Given the description of an element on the screen output the (x, y) to click on. 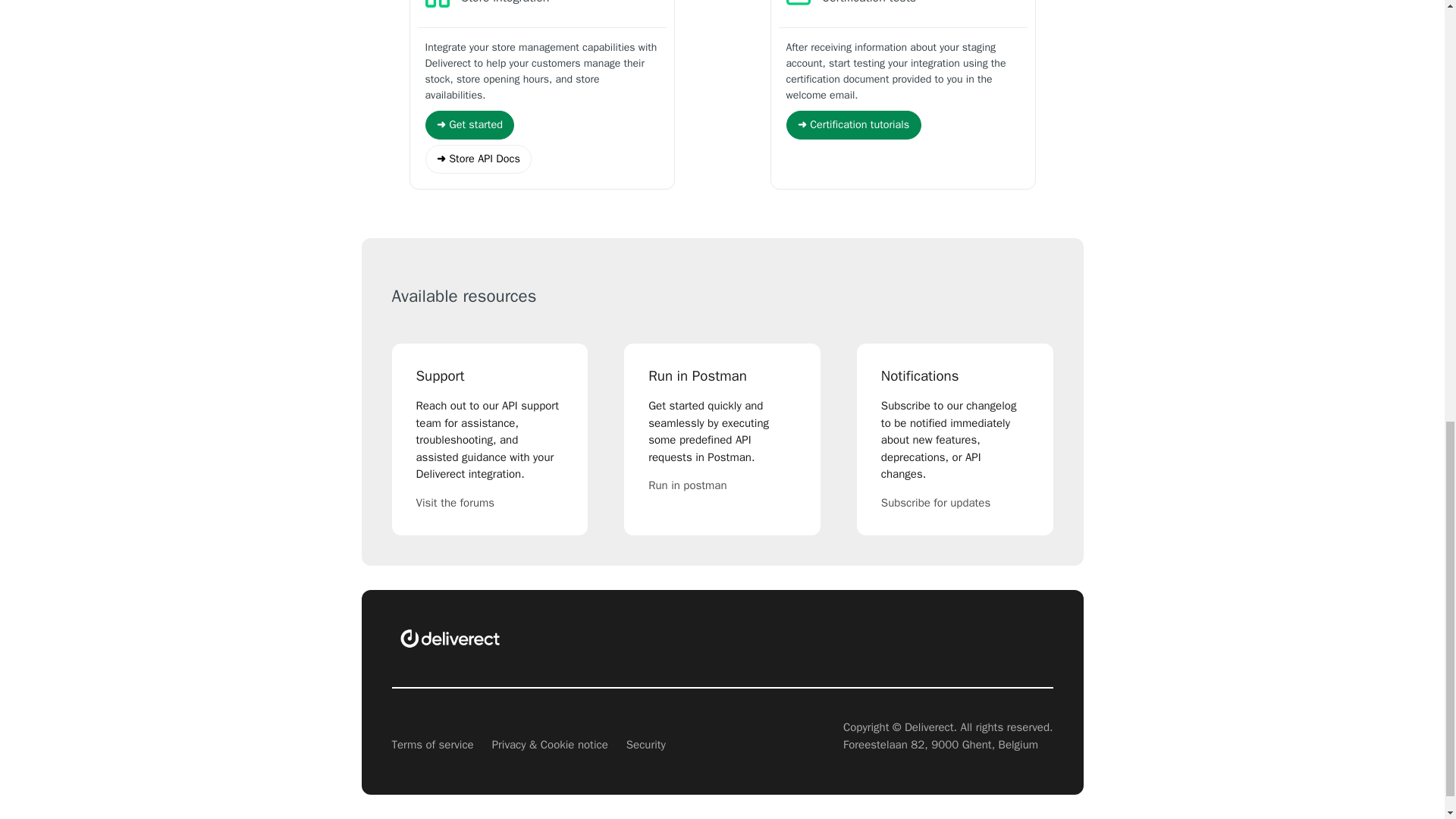
Visit the forums (488, 502)
Run in postman (721, 485)
Subscribe for updates (954, 502)
Security (645, 744)
Terms of service (432, 744)
